Given the description of an element on the screen output the (x, y) to click on. 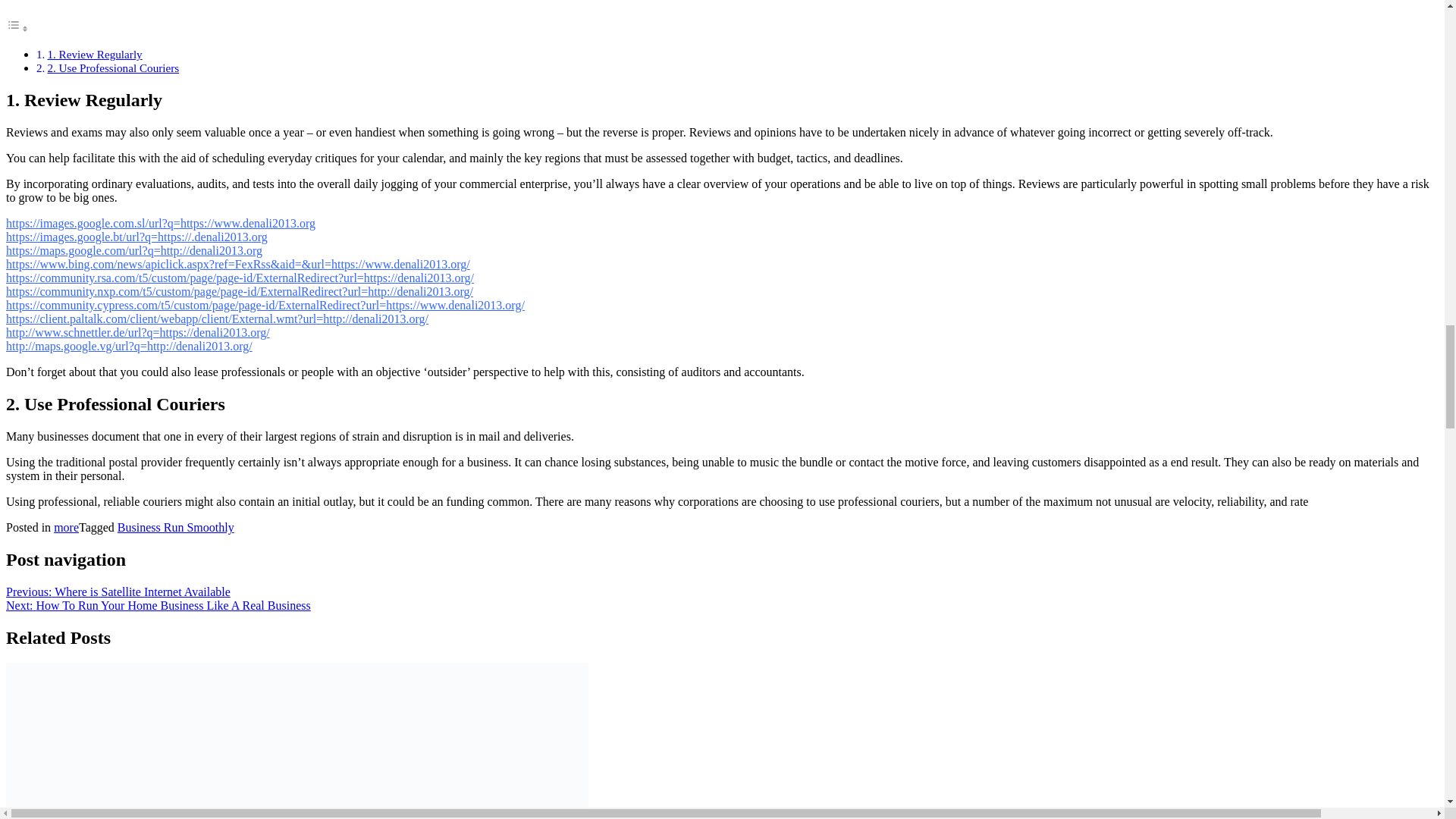
2. Use Professional Couriers (112, 67)
1. Review Regularly (93, 53)
Business Run Smoothly (175, 526)
1. Review Regularly (93, 53)
Previous: Where is Satellite Internet Available (117, 591)
2. Use Professional Couriers (112, 67)
more (65, 526)
Next: How To Run Your Home Business Like A Real Business (158, 604)
